Given the description of an element on the screen output the (x, y) to click on. 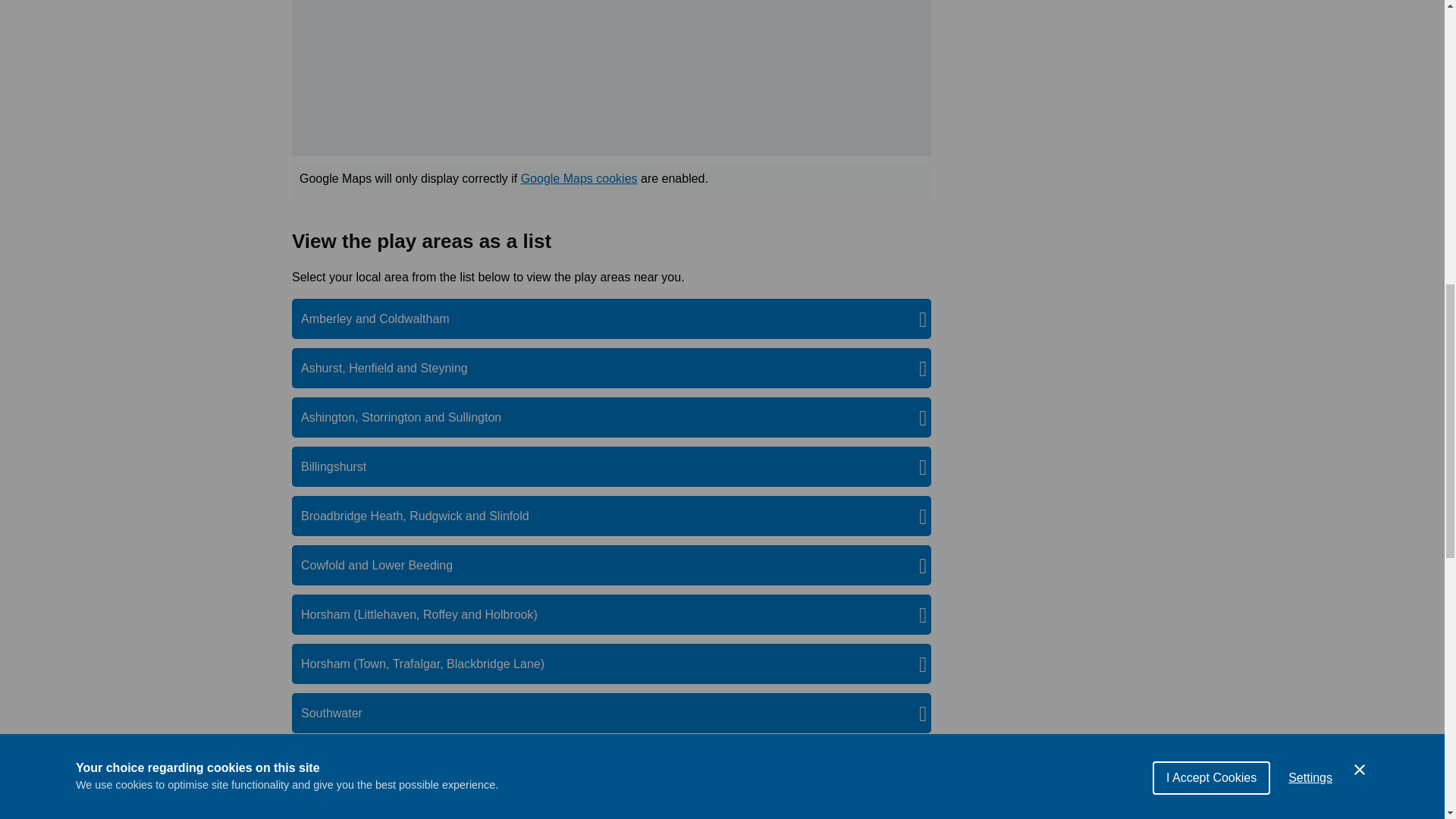
Billingshurst (342, 466)
Broadbridge Heath, Rudgwick and Slinfold (424, 516)
Google Maps cookies (579, 178)
Ashington, Storrington and Sullington (410, 417)
Cowfold and Lower Beeding (385, 565)
Southwater (340, 712)
Ashurst, Henfield and Steyning (393, 368)
Play area location map (611, 78)
Amberley and Coldwaltham (384, 318)
